Given the description of an element on the screen output the (x, y) to click on. 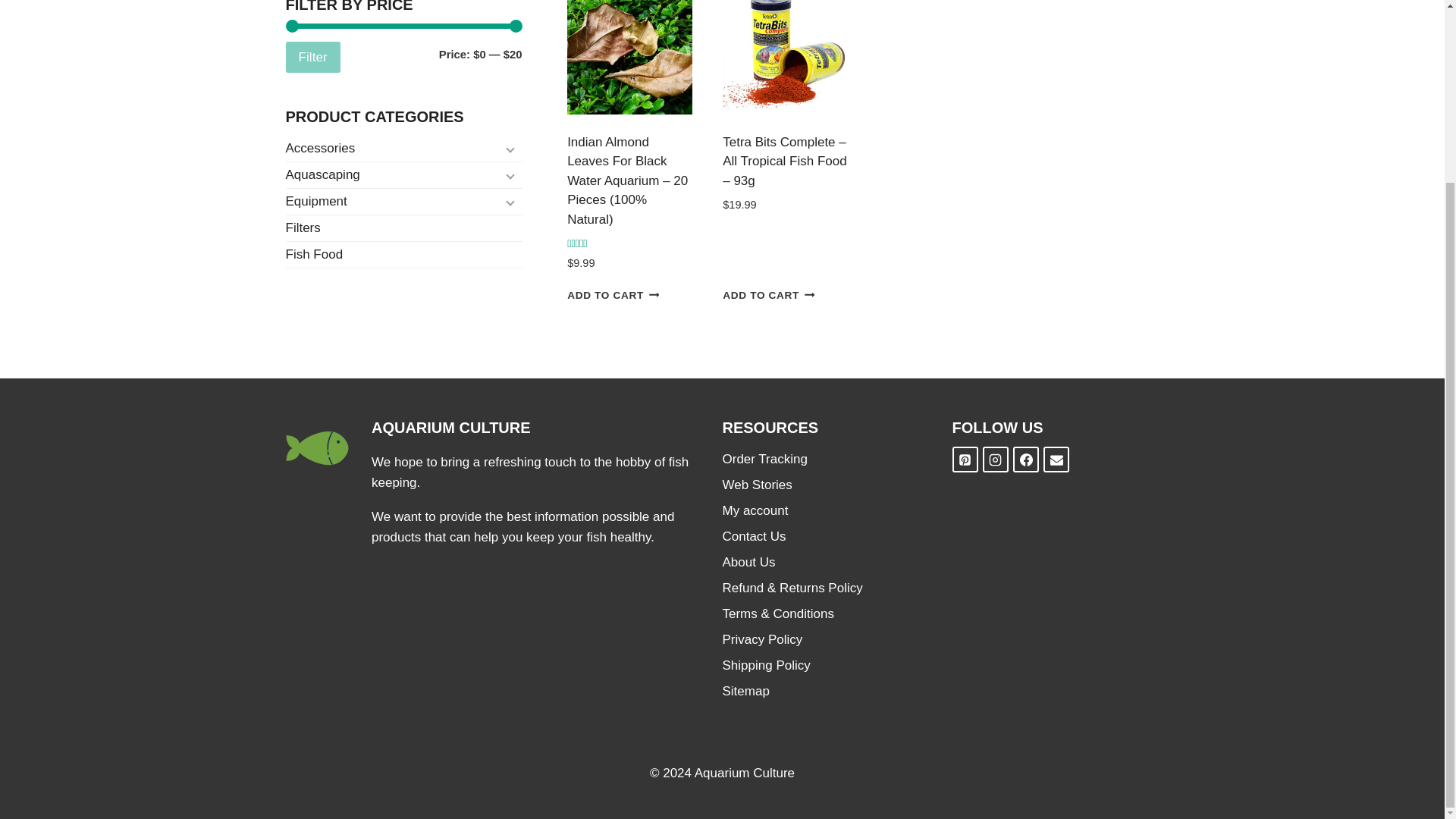
ADD TO CART (613, 295)
Accessories (403, 148)
Equipment (403, 202)
ADD TO CART (767, 295)
Aquascaping (403, 175)
Filter (312, 56)
